Given the description of an element on the screen output the (x, y) to click on. 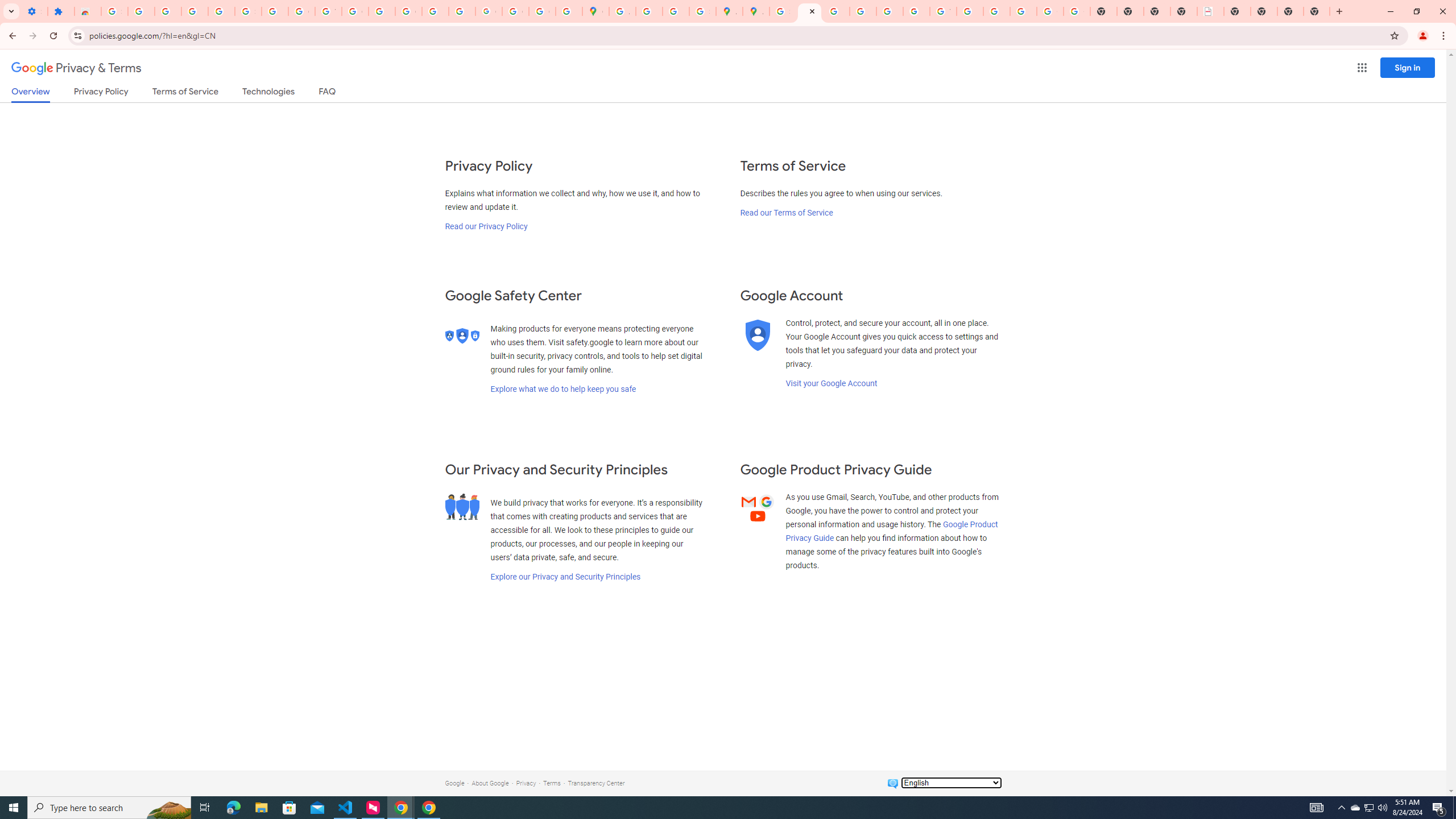
Visit your Google Account (830, 383)
Delete photos & videos - Computer - Google Photos Help (167, 11)
Change language: (951, 782)
Google Maps (595, 11)
https://scholar.google.com/ (382, 11)
Sign in - Google Accounts (248, 11)
Reviews: Helix Fruit Jump Arcade Game (87, 11)
Settings - On startup (34, 11)
